Given the description of an element on the screen output the (x, y) to click on. 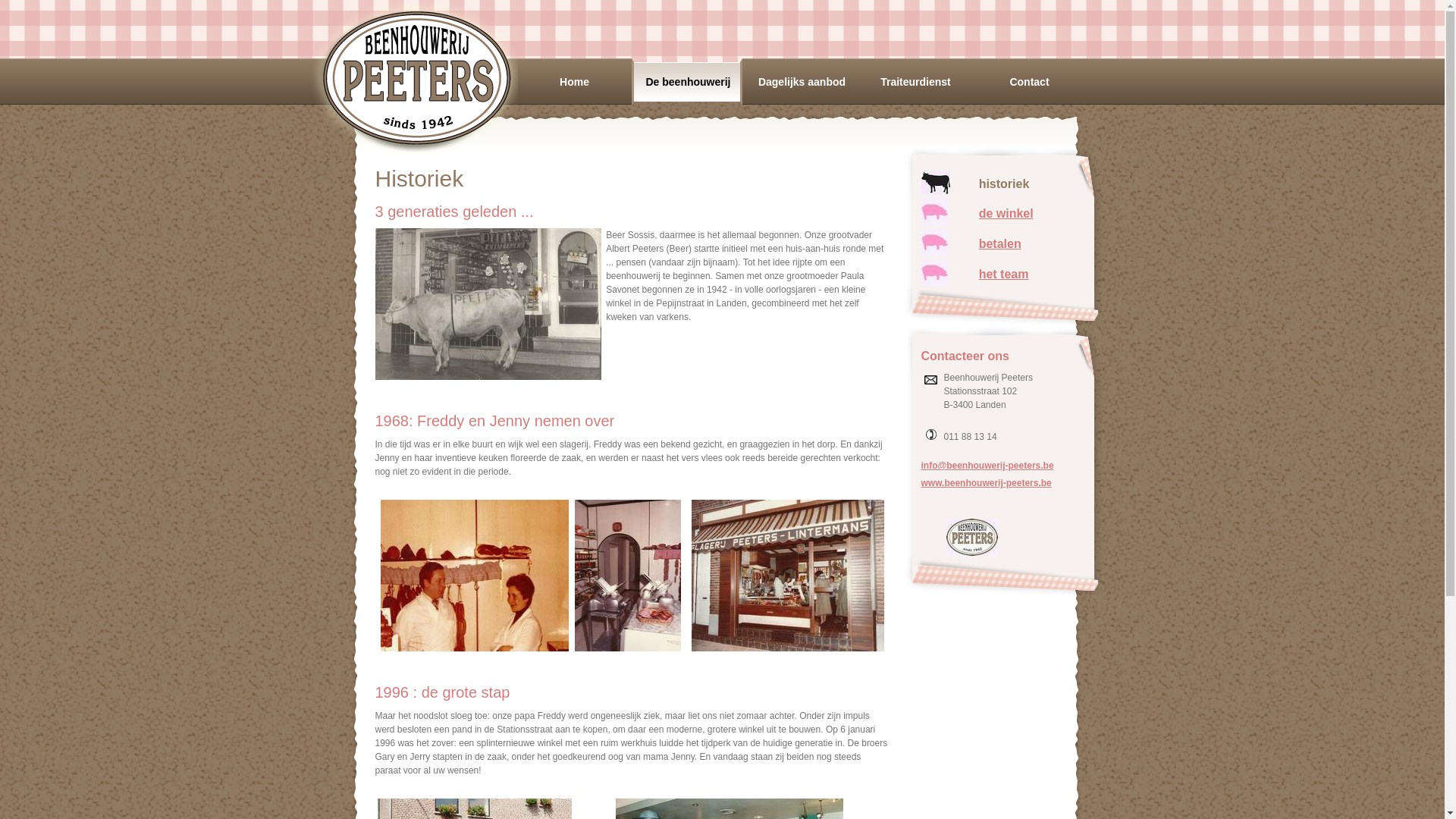
subitem Element type: hover (933, 272)
het team Element type: text (1004, 273)
Beenhouwerij Peeters Element type: text (415, 77)
subitem Element type: hover (933, 242)
subitem Element type: hover (933, 211)
Beenhouwerij Peeters logo Element type: hover (971, 536)
de winkel Element type: text (1006, 213)
info@beenhouwerij-peeters.be Element type: text (986, 465)
prijsbeest van Peeters Element type: hover (487, 303)
adres Element type: hover (930, 379)
betalen Element type: text (1000, 243)
huidige pagina Element type: hover (934, 182)
Traiteurdienst Element type: text (915, 81)
Contact Element type: text (1028, 81)
telefoon Element type: hover (930, 434)
Freddy Peeters en Jenny Lintermans Element type: hover (474, 575)
Home Element type: text (573, 81)
Dagelijks aanbod Element type: text (801, 81)
Pepijnstraat anno 1969 Element type: hover (787, 575)
De beenhouwerij Element type: text (687, 81)
Knusse winkel Element type: hover (627, 575)
www.beenhouwerij-peeters.be Element type: text (985, 482)
